Given the description of an element on the screen output the (x, y) to click on. 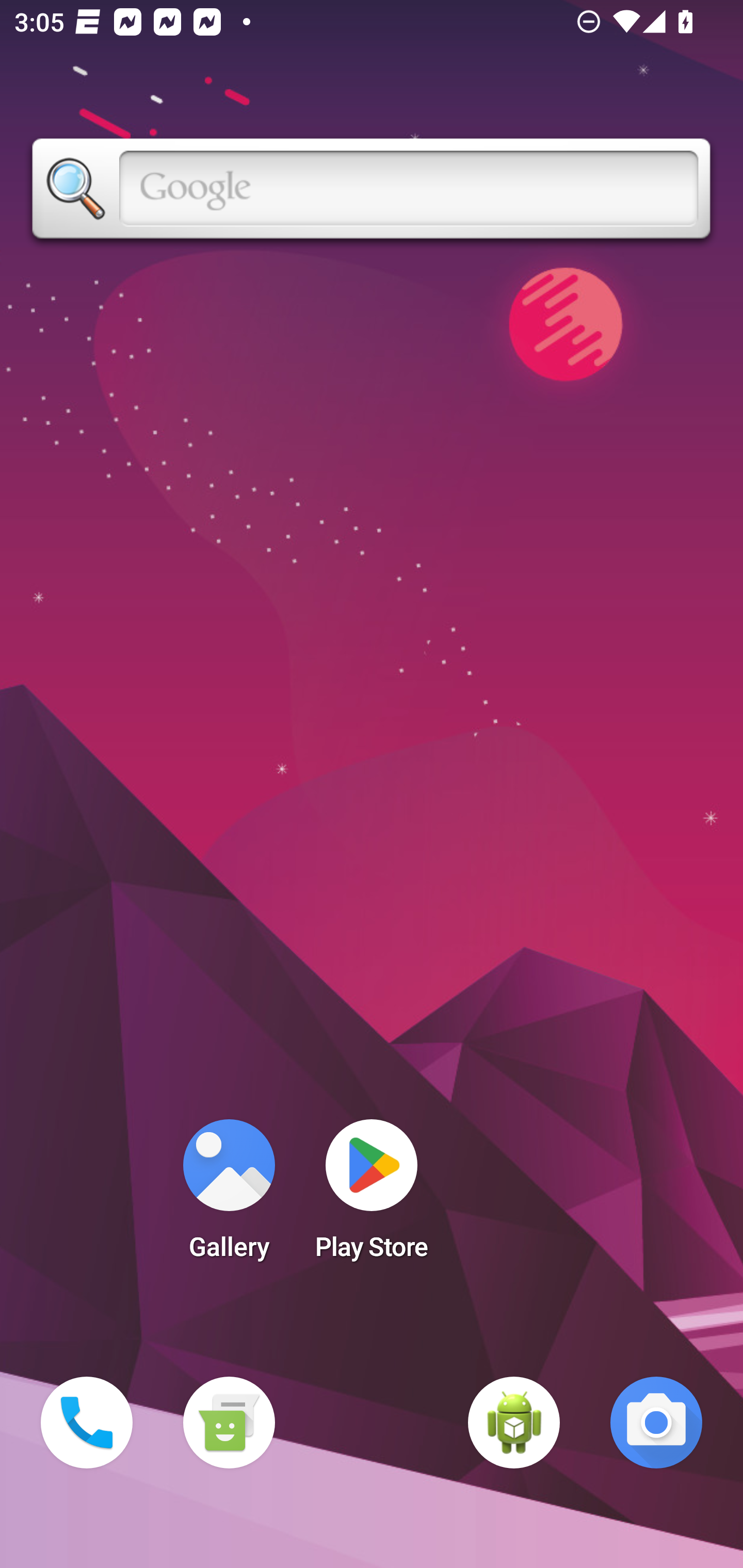
Gallery (228, 1195)
Play Store (371, 1195)
Phone (86, 1422)
Messaging (228, 1422)
WebView Browser Tester (513, 1422)
Camera (656, 1422)
